Given the description of an element on the screen output the (x, y) to click on. 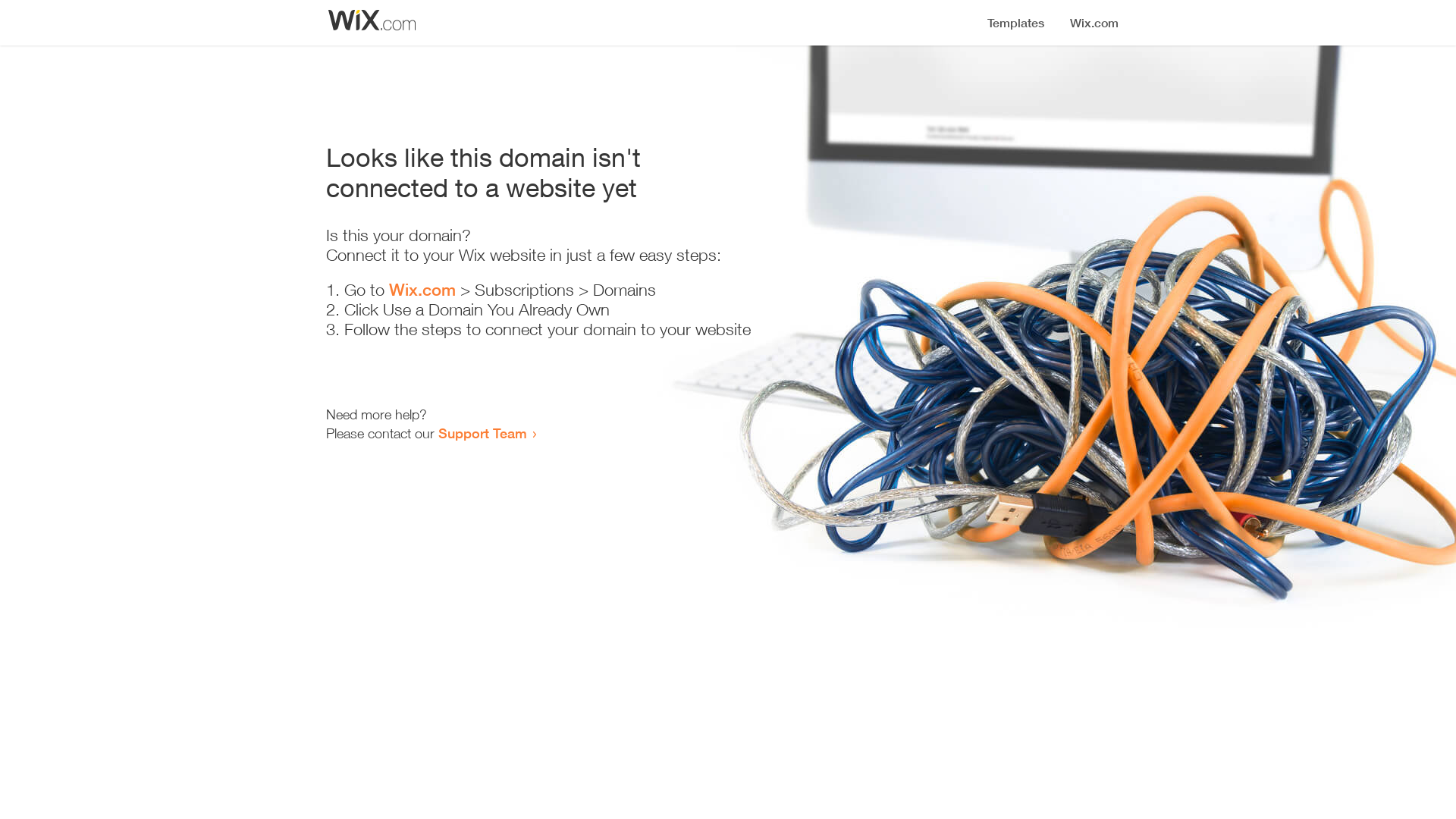
Support Team Element type: text (482, 432)
Wix.com Element type: text (422, 289)
